Given the description of an element on the screen output the (x, y) to click on. 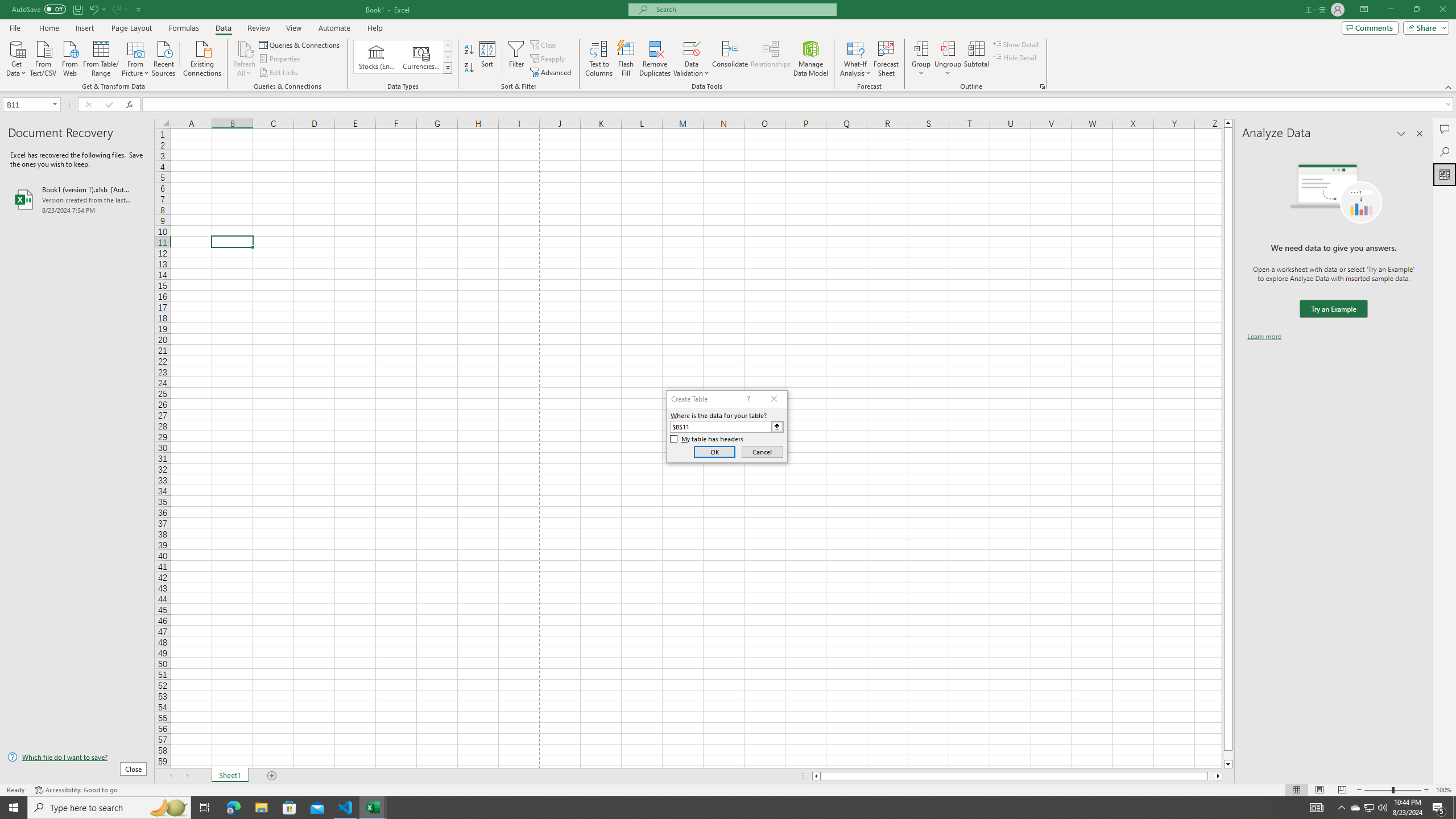
Group and Outline Settings (1042, 85)
Formulas (184, 28)
From Picture (135, 57)
